Given the description of an element on the screen output the (x, y) to click on. 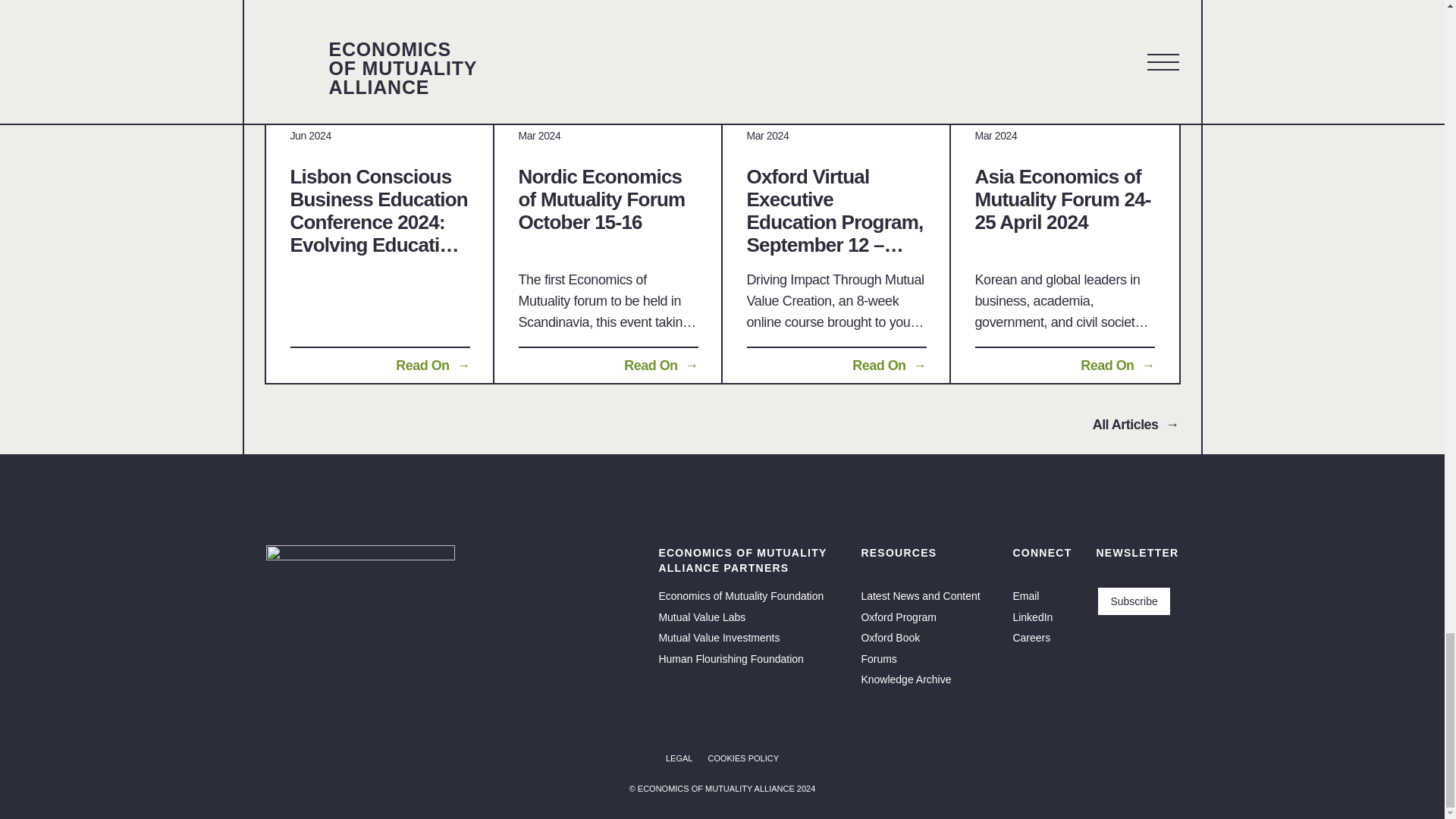
Knowledge Archive (905, 679)
Economics of Mutuality Foundation (741, 595)
Subscribe (1133, 601)
LEGAL (679, 758)
COOKIES POLICY (742, 758)
Forums (878, 658)
Latest News and Content (919, 595)
Email (1025, 595)
LinkedIn (1031, 616)
Mutual Value Investments (718, 637)
